Given the description of an element on the screen output the (x, y) to click on. 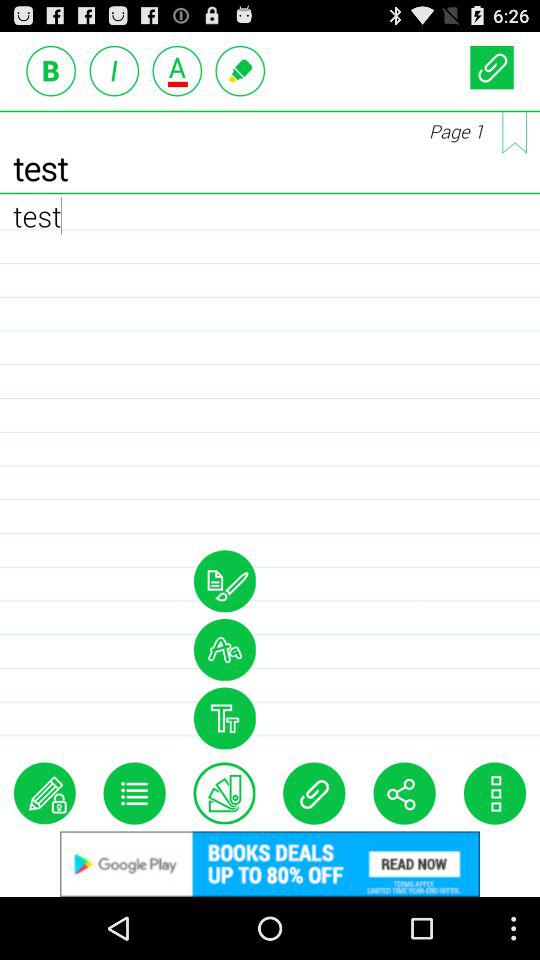
add text (224, 793)
